Given the description of an element on the screen output the (x, y) to click on. 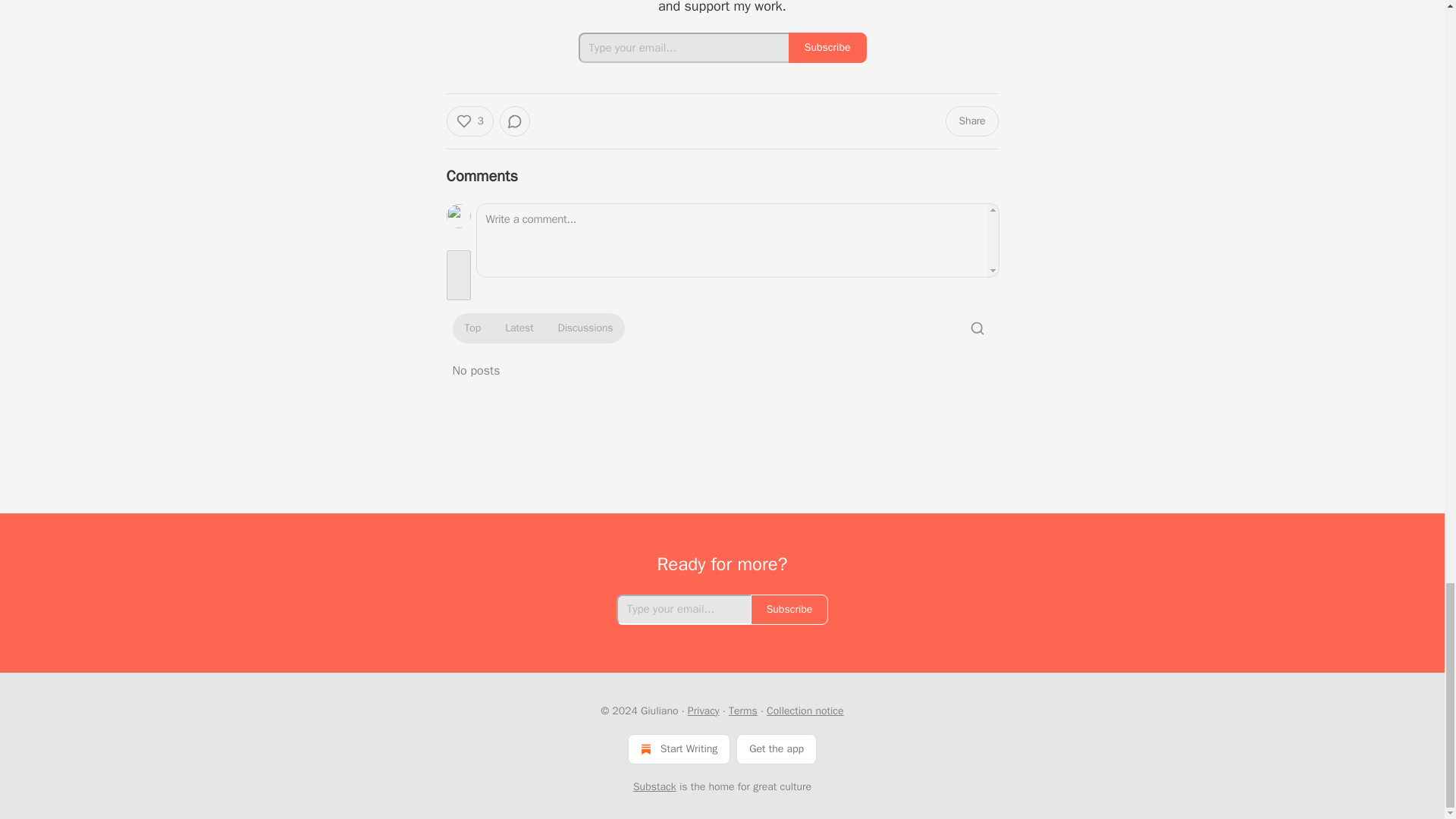
3 (469, 121)
Share (970, 121)
Subscribe (827, 47)
